Given the description of an element on the screen output the (x, y) to click on. 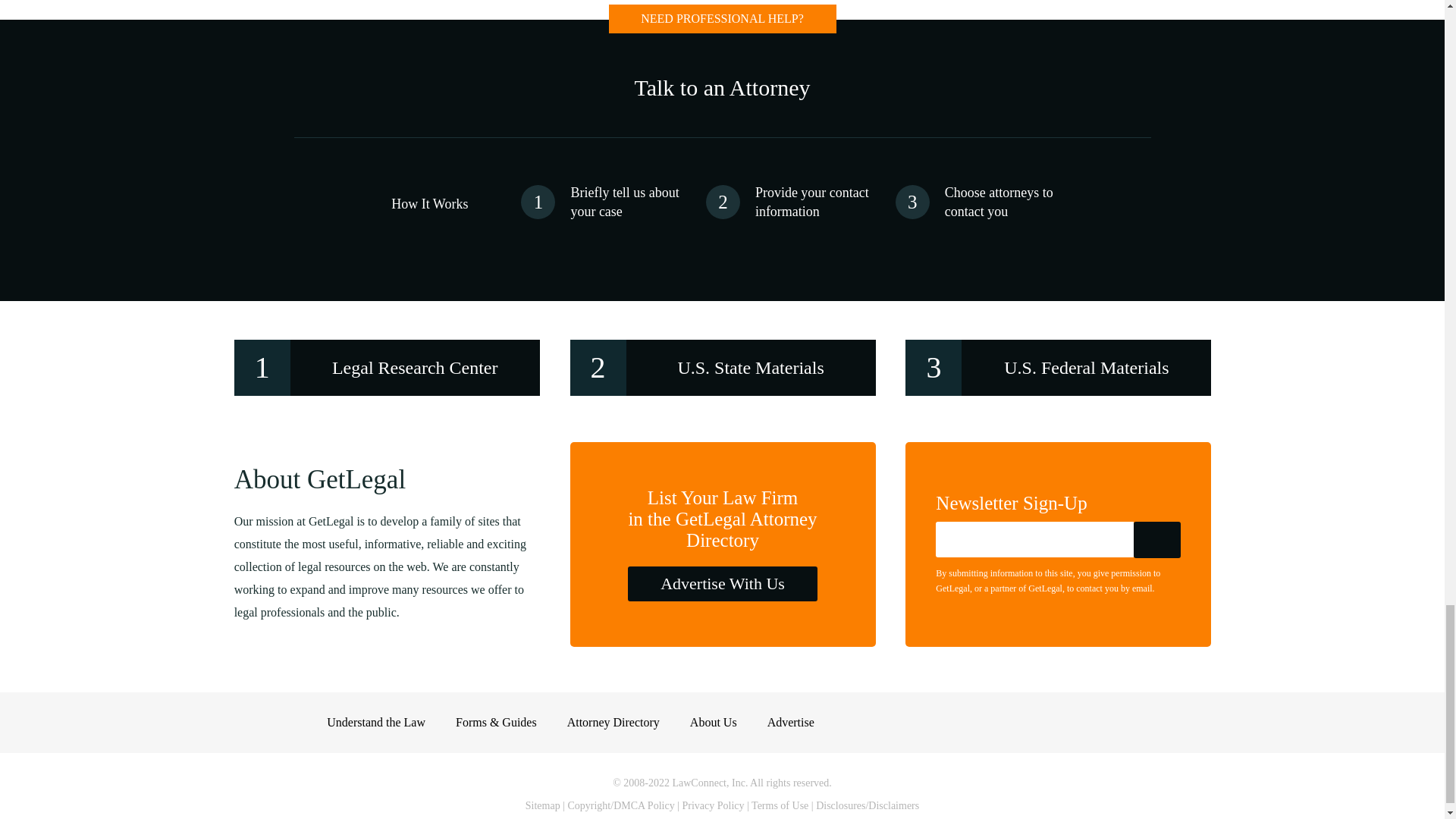
Subscribe! (1157, 539)
